Given the description of an element on the screen output the (x, y) to click on. 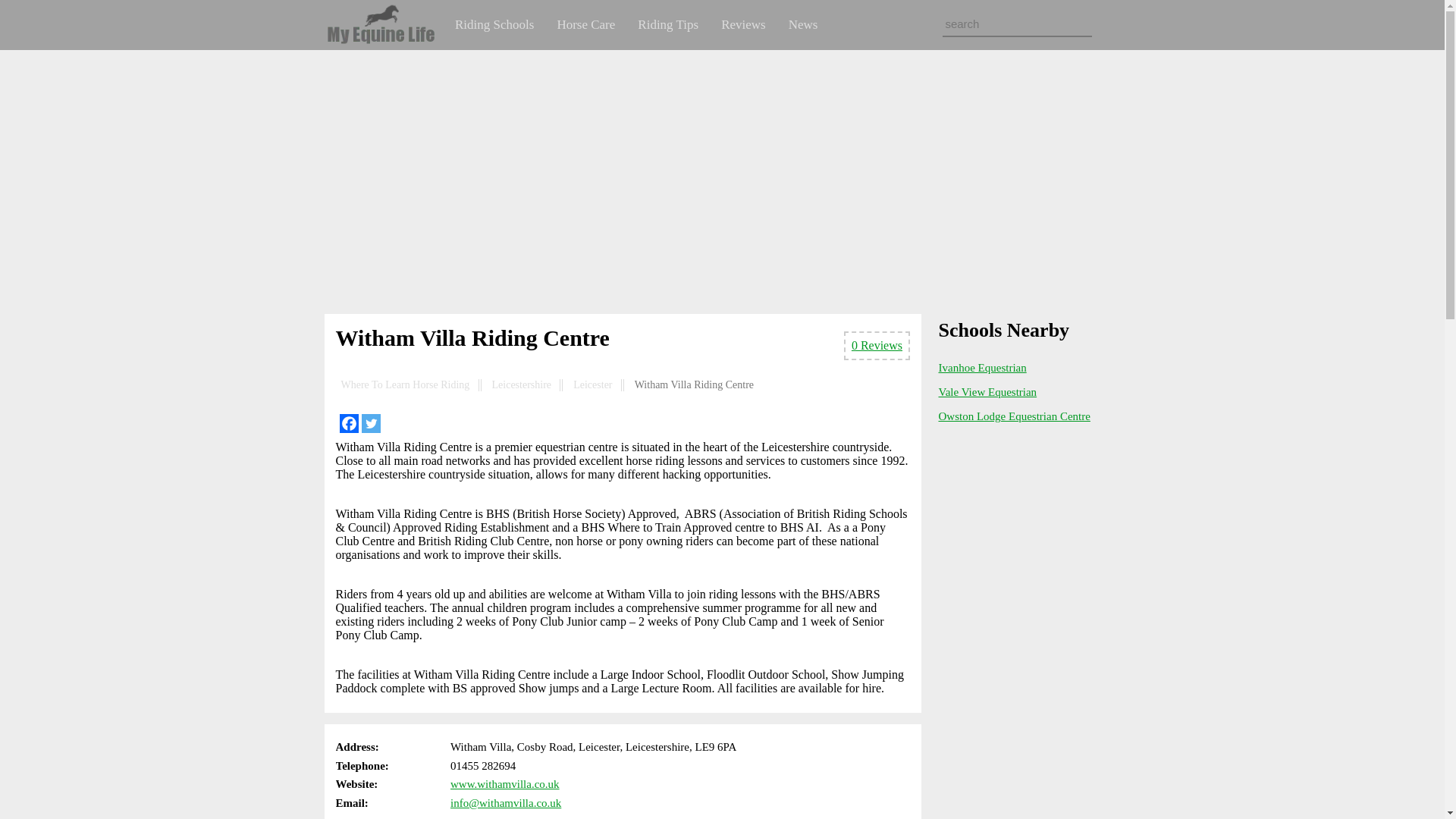
Owston Lodge Equestrian Centre (1014, 416)
0 Reviews (876, 345)
Leicestershire (521, 385)
News (803, 23)
Where To Learn Horse Riding (405, 385)
Facebook (348, 423)
Riding Schools (494, 23)
Vale View Equestrian (987, 391)
Reviews (742, 23)
Twitter (370, 423)
